Given the description of an element on the screen output the (x, y) to click on. 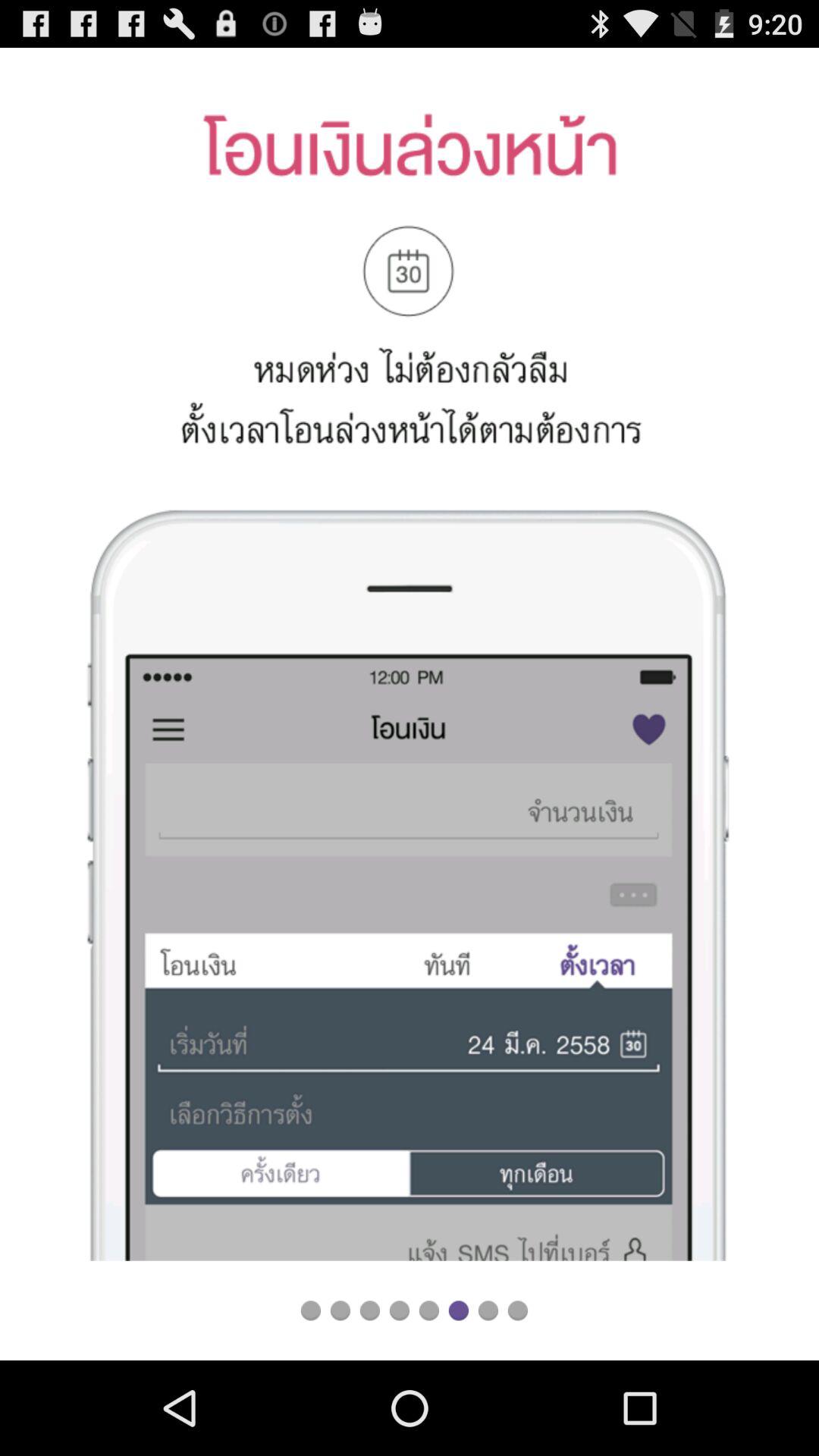
menu button (399, 1310)
